Given the description of an element on the screen output the (x, y) to click on. 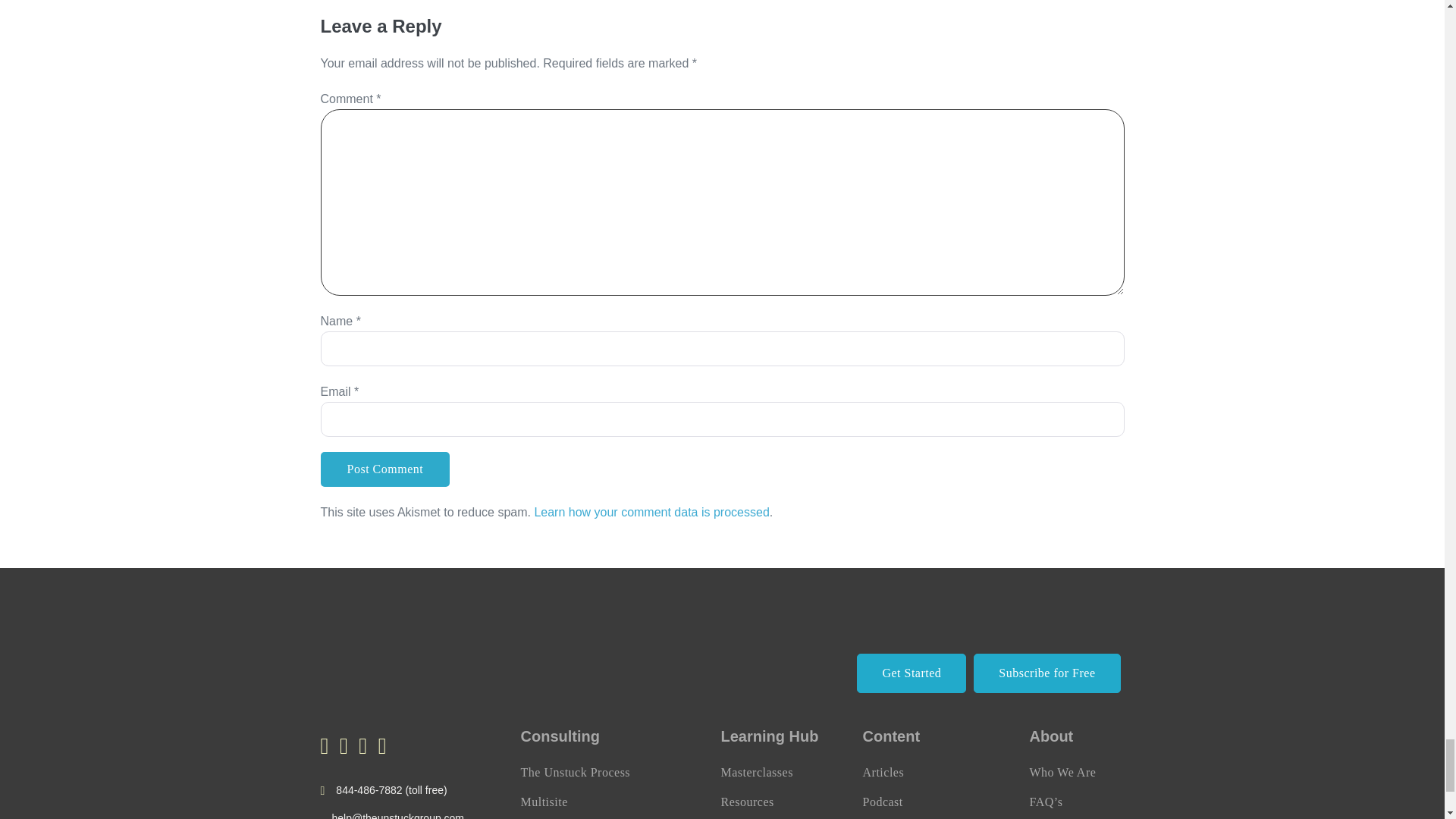
Post Comment (384, 469)
Consulting (558, 736)
unstuck-group-light-logo (394, 654)
